Given the description of an element on the screen output the (x, y) to click on. 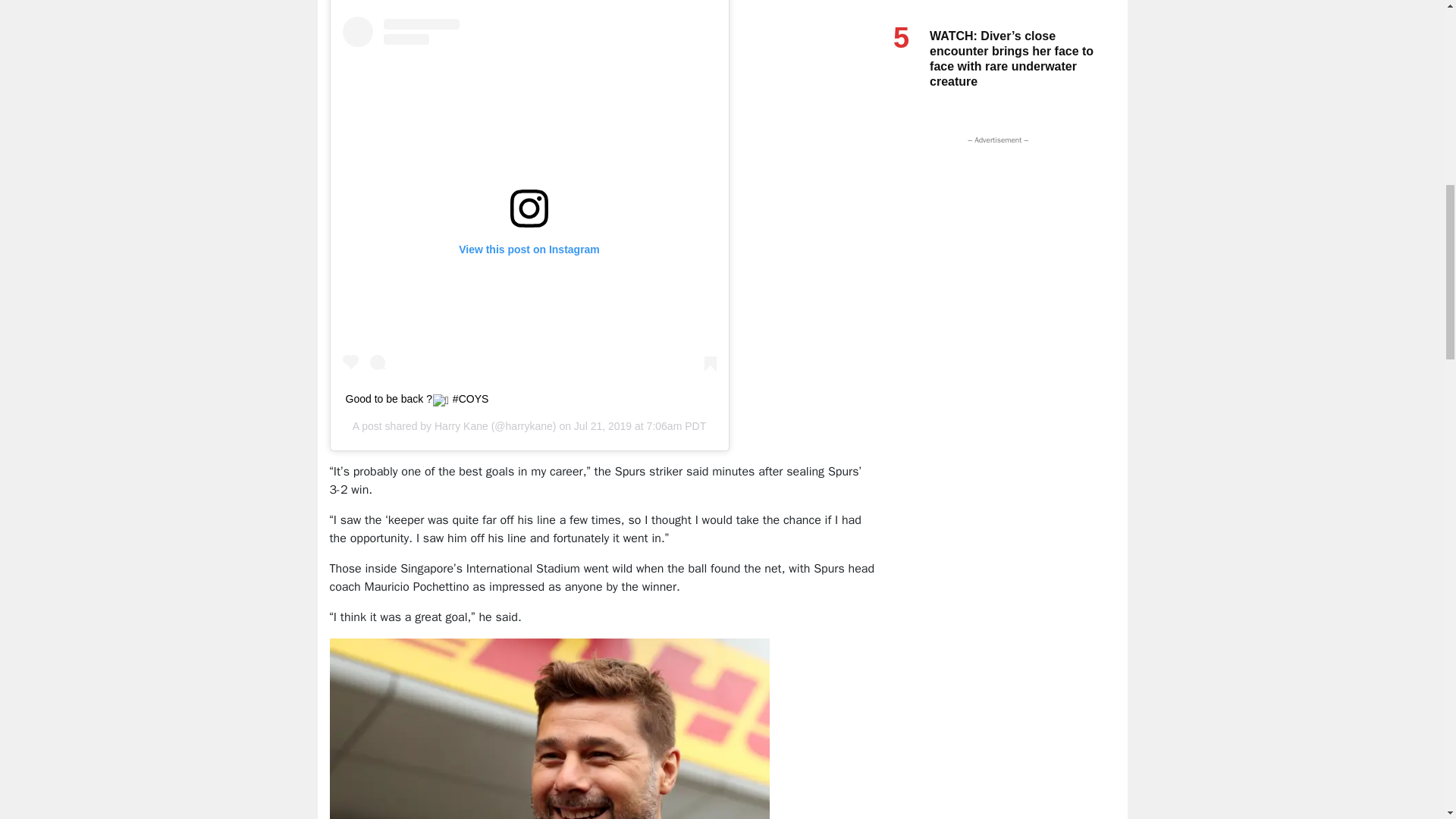
3rd party ad content (994, 242)
